Given the description of an element on the screen output the (x, y) to click on. 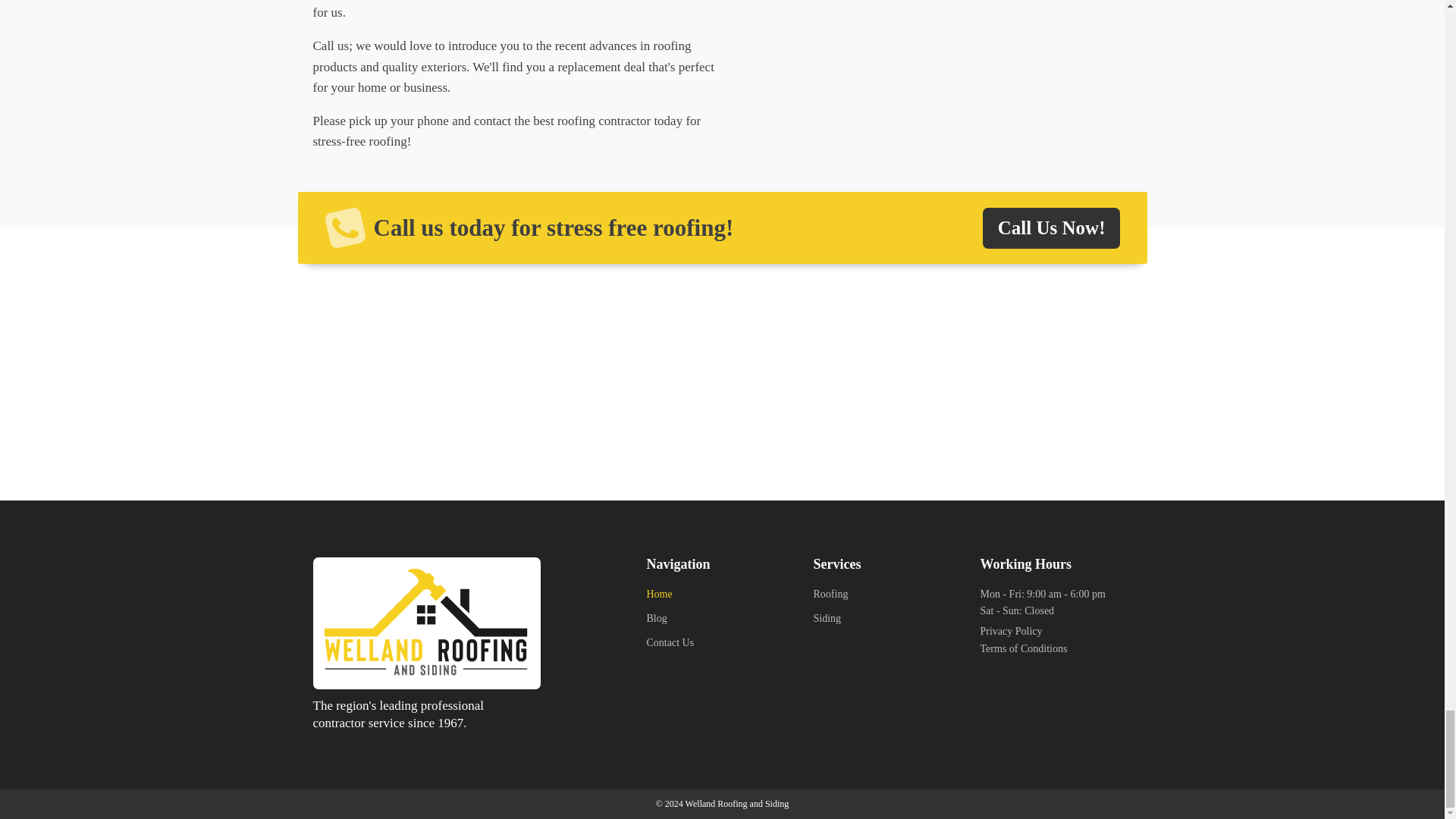
Call Us Now! (1051, 228)
Privacy Policy (1010, 631)
Contact Us (670, 646)
Terms of Conditions (1023, 648)
Blog (670, 622)
Home (670, 598)
Siding (829, 622)
Roofing (829, 598)
